Given the description of an element on the screen output the (x, y) to click on. 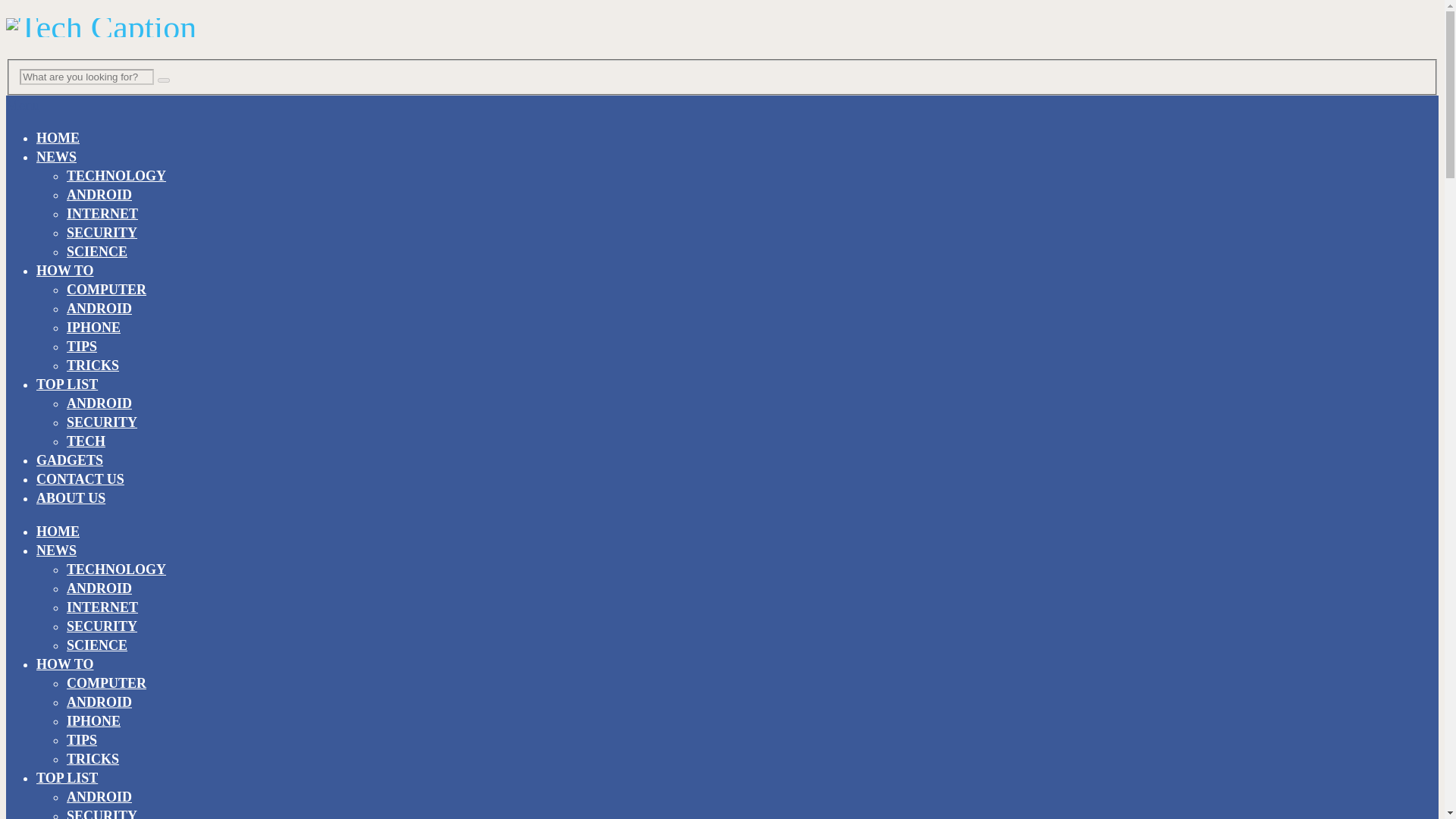
NEWS (56, 156)
INTERNET (102, 213)
HOW TO (65, 270)
TIPS (81, 739)
ANDROID (99, 308)
Menu (22, 105)
CONTACT US (79, 478)
COMPUTER (106, 683)
SECURITY (101, 421)
IPHONE (93, 720)
NEWS (56, 549)
TOP LIST (66, 777)
ANDROID (99, 702)
TOP LIST (66, 384)
SCIENCE (97, 645)
